Given the description of an element on the screen output the (x, y) to click on. 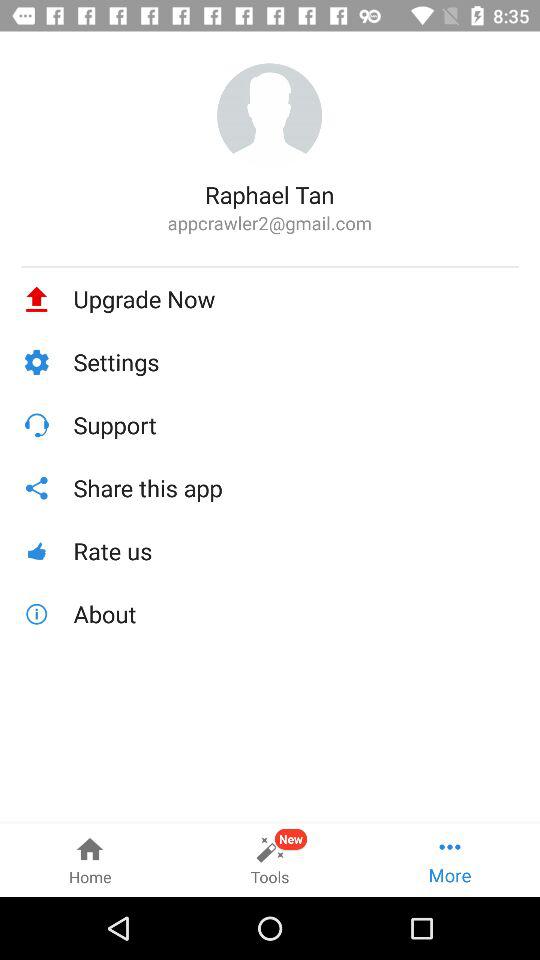
jump to the rate us icon (296, 550)
